Given the description of an element on the screen output the (x, y) to click on. 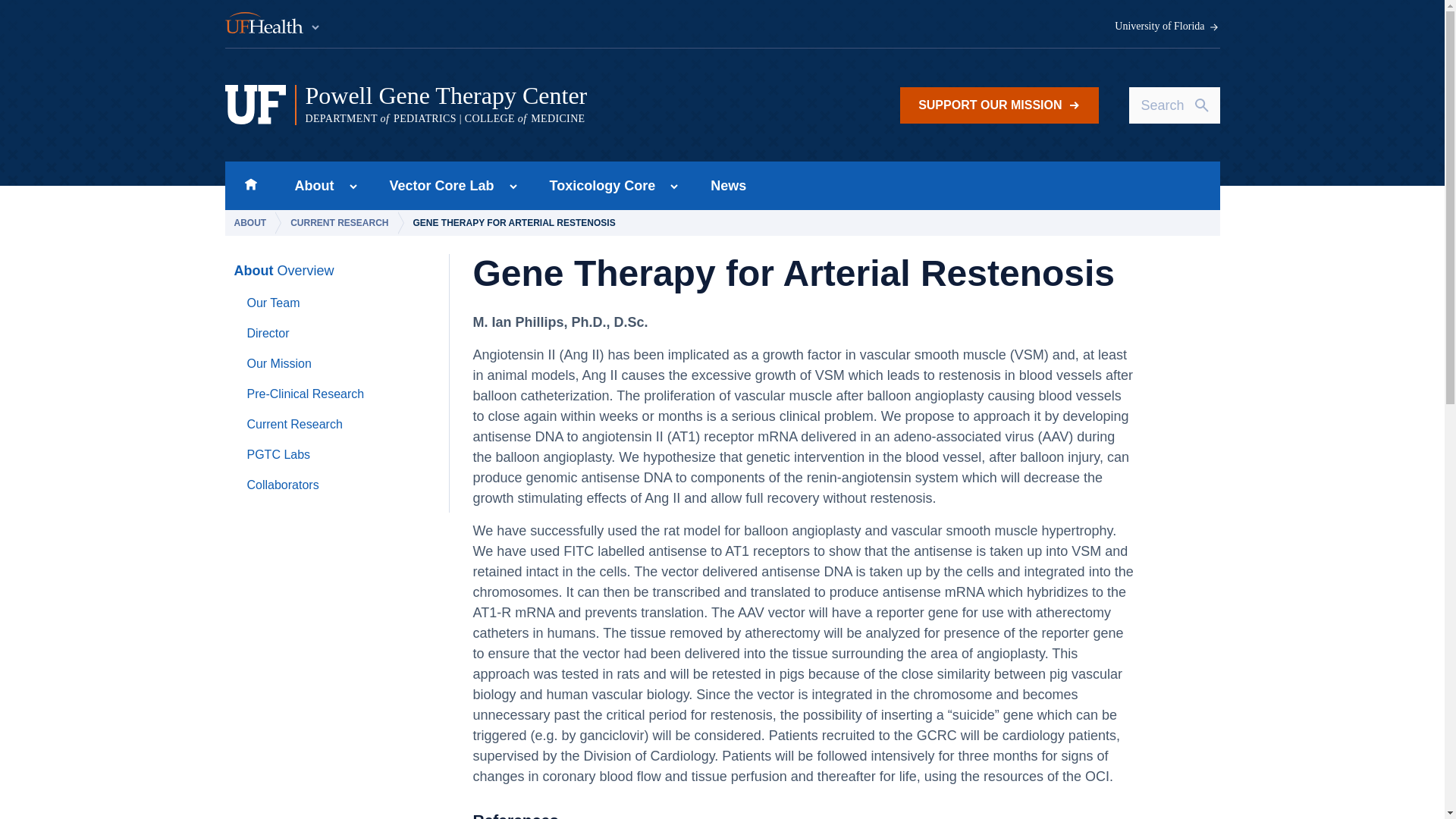
About Overview (282, 270)
University of Florida (1167, 26)
News (728, 185)
Toxicology Core (598, 185)
SUPPORT OUR MISSION (998, 104)
Vector Core Lab (437, 185)
UF Health (272, 24)
ABOUT (252, 222)
